Given the description of an element on the screen output the (x, y) to click on. 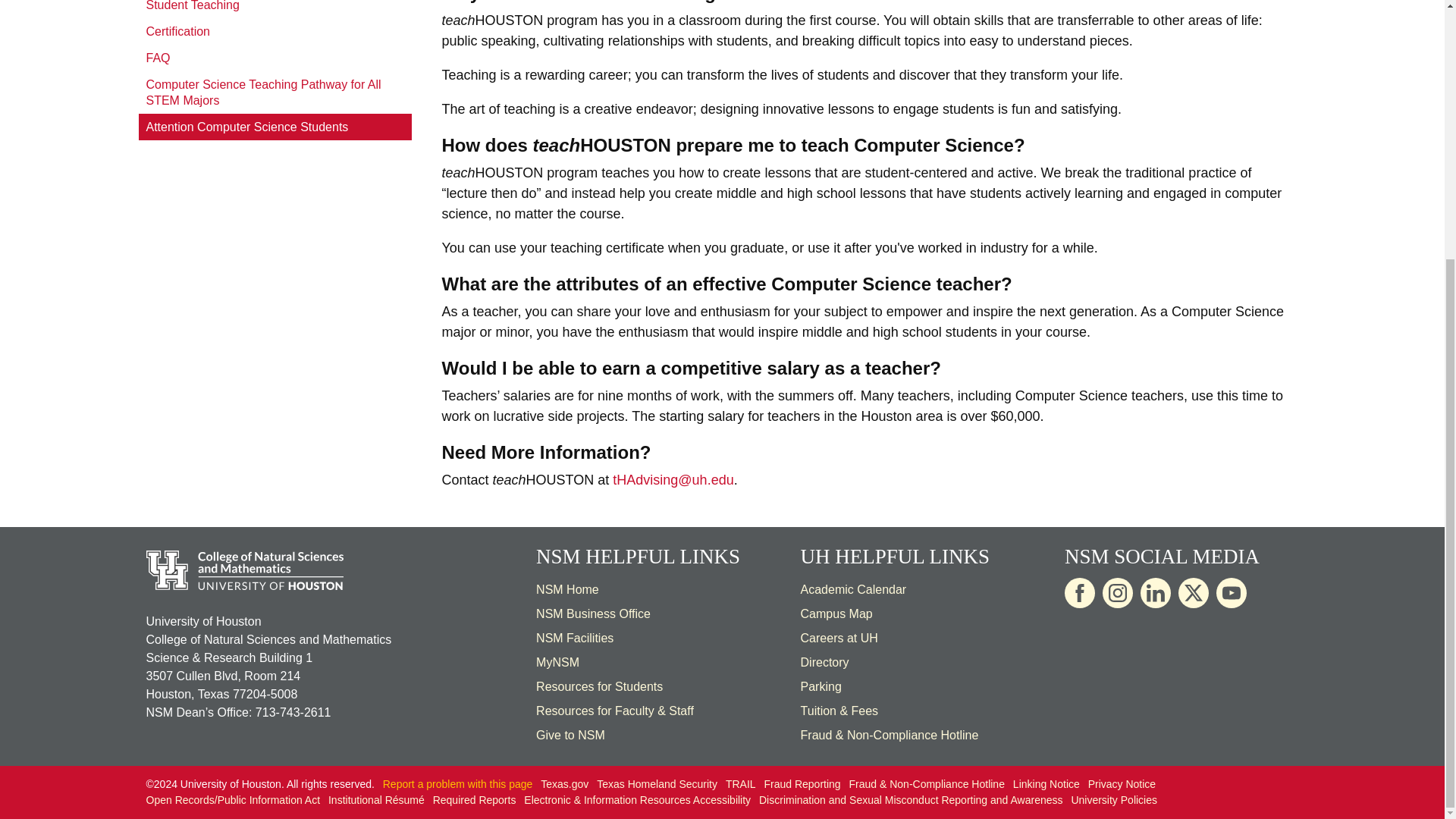
Attention Computer Science Students (274, 126)
X (1192, 593)
University of Houston (814, 556)
LinkedIn (1155, 593)
University of Houston (700, 479)
FAQ (274, 58)
Computer Science Teaching Pathway for All STEM Majors (274, 92)
University of Houston (868, 637)
Facebook (1079, 593)
Student Teaching (274, 9)
